Given the description of an element on the screen output the (x, y) to click on. 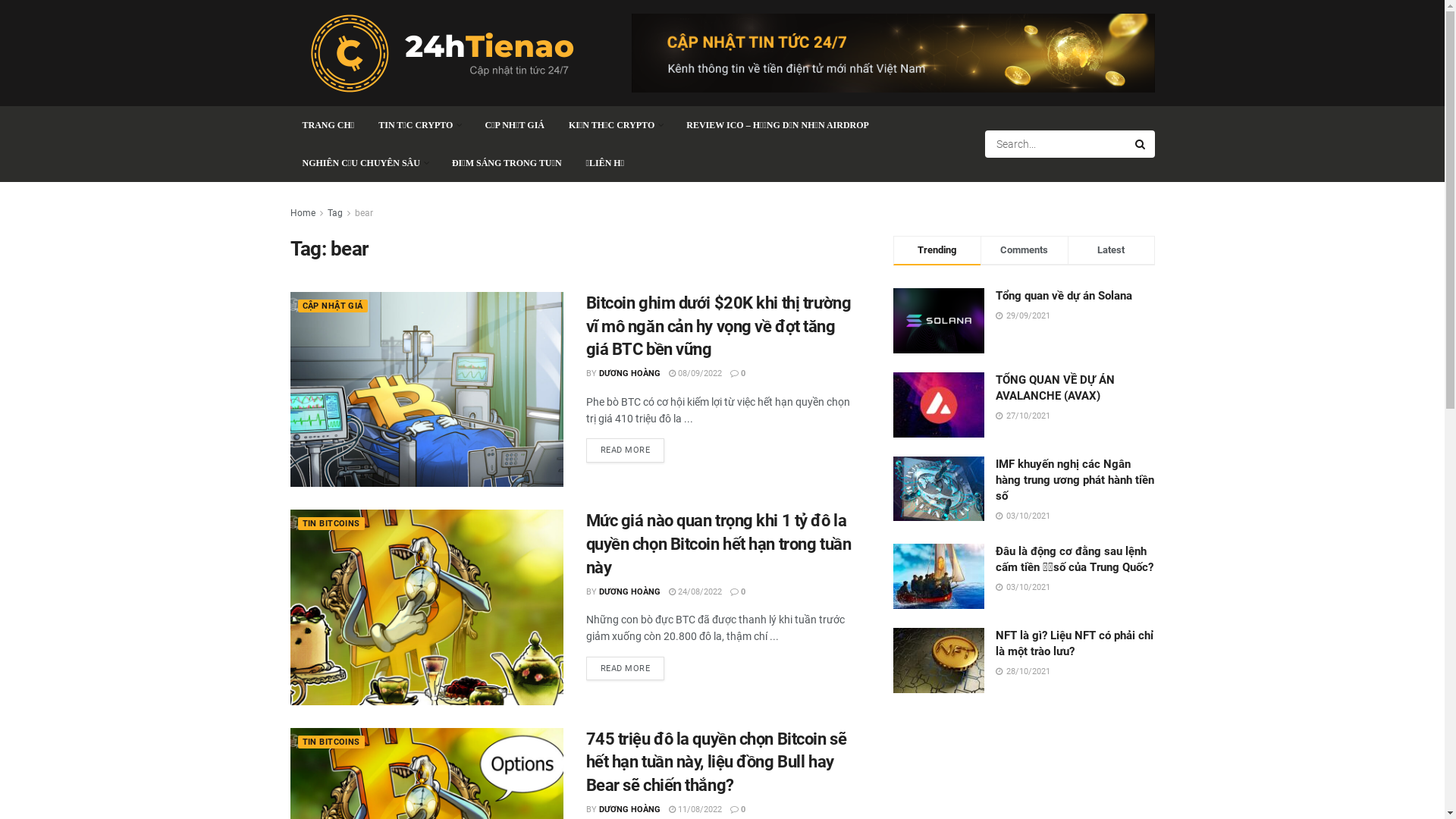
0 Element type: text (736, 373)
24/08/2022 Element type: text (694, 591)
08/09/2022 Element type: text (694, 373)
TIN BITCOINS Element type: text (330, 741)
0 Element type: text (736, 809)
Tag Element type: text (334, 212)
READ MORE Element type: text (624, 450)
Home Element type: text (301, 212)
11/08/2022 Element type: text (694, 809)
READ MORE Element type: text (624, 668)
0 Element type: text (736, 591)
TIN BITCOINS Element type: text (330, 523)
bear Element type: text (363, 212)
